Given the description of an element on the screen output the (x, y) to click on. 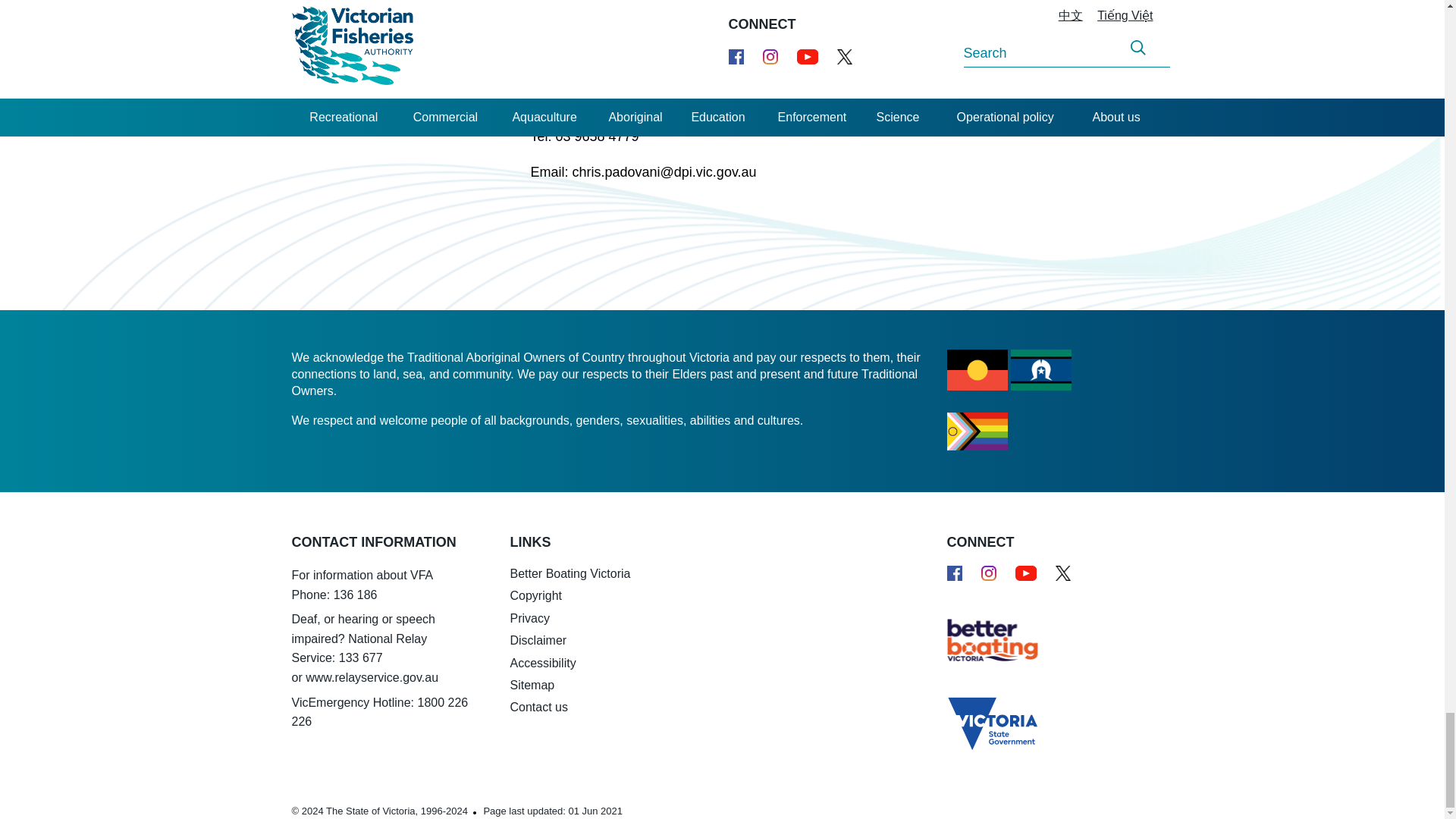
YouTube (1024, 572)
Instagram (988, 572)
VIC State Government (980, 716)
Facebook (953, 572)
Better Boating Victoria (980, 639)
